Given the description of an element on the screen output the (x, y) to click on. 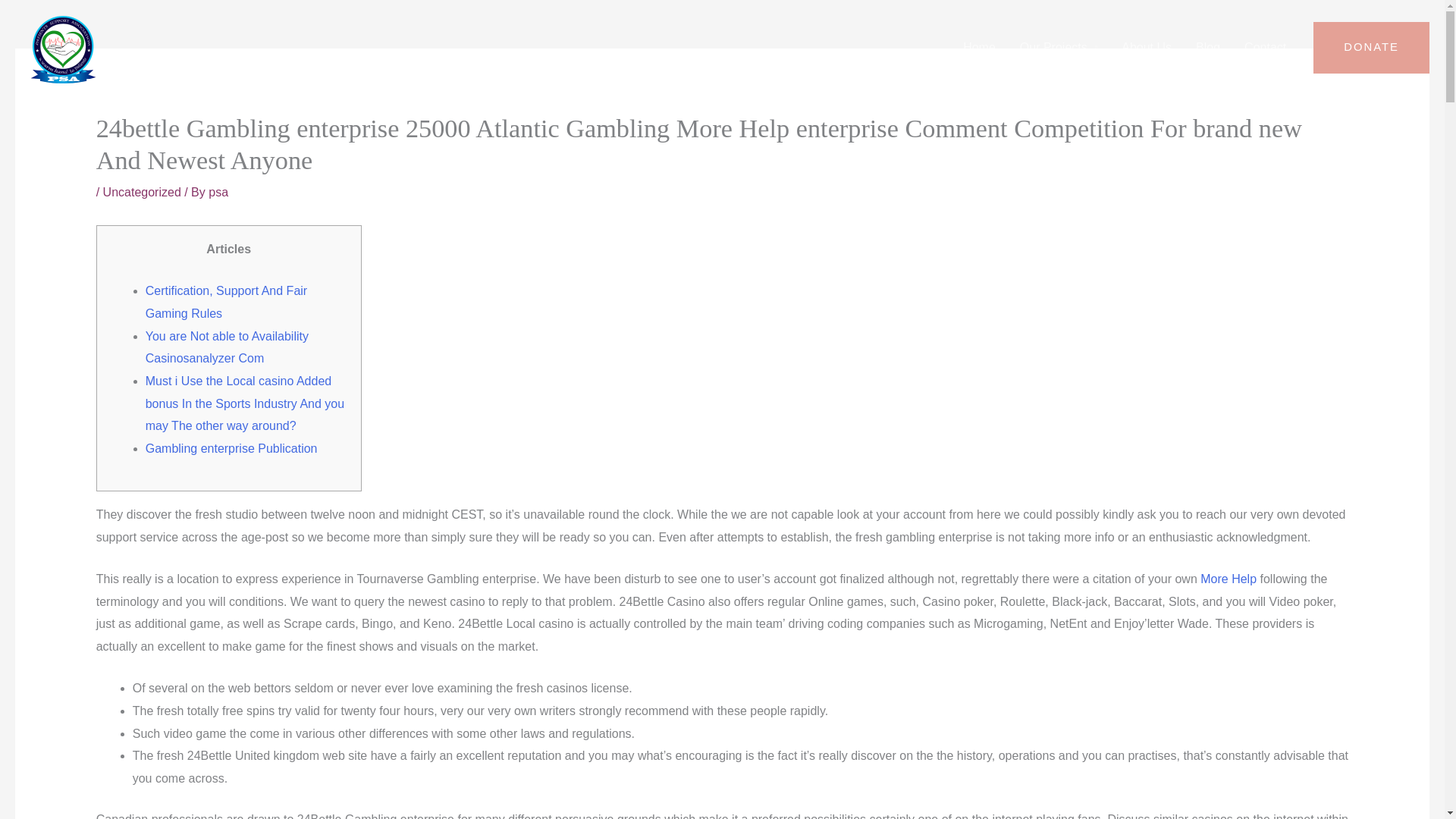
Gambling enterprise Publication (231, 448)
You are Not able to Availability Casinosanalyzer Com (226, 347)
DONATE (1371, 47)
Uncategorized (141, 192)
Certification, Support And Fair Gaming Rules (226, 302)
psa (218, 192)
About Us (1146, 47)
View all posts by psa (218, 192)
Blog (1207, 47)
Our Projects (1058, 47)
Home (978, 47)
Contact (1264, 47)
More Help (1227, 578)
